Given the description of an element on the screen output the (x, y) to click on. 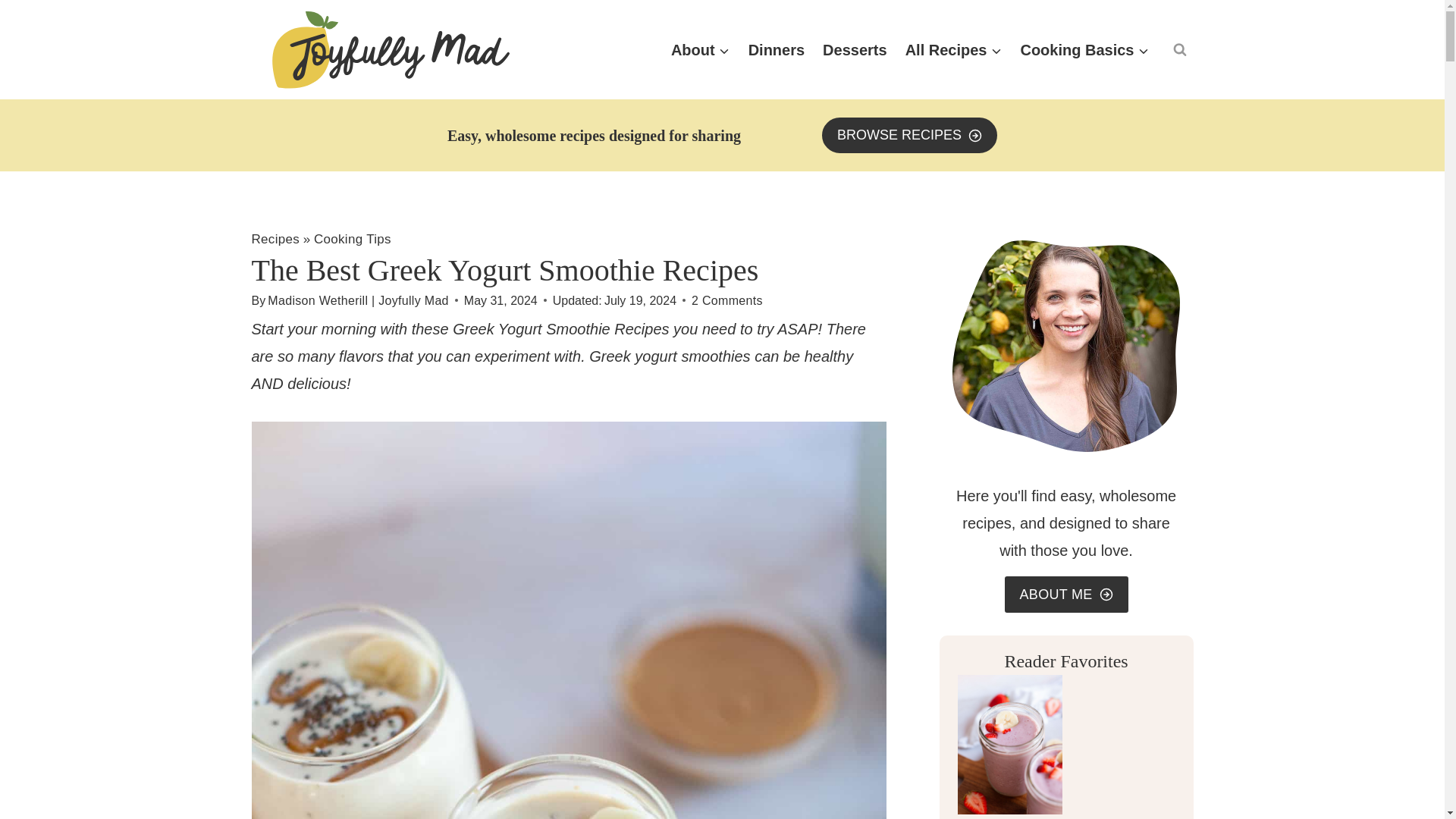
Cooking Basics (1083, 49)
BROWSE RECIPES (909, 135)
All Recipes (953, 49)
Cooking Tips (352, 238)
2 Comments (726, 300)
2 Comments (726, 300)
Recipes (275, 238)
Dinners (776, 49)
Desserts (854, 49)
About (700, 49)
